Given the description of an element on the screen output the (x, y) to click on. 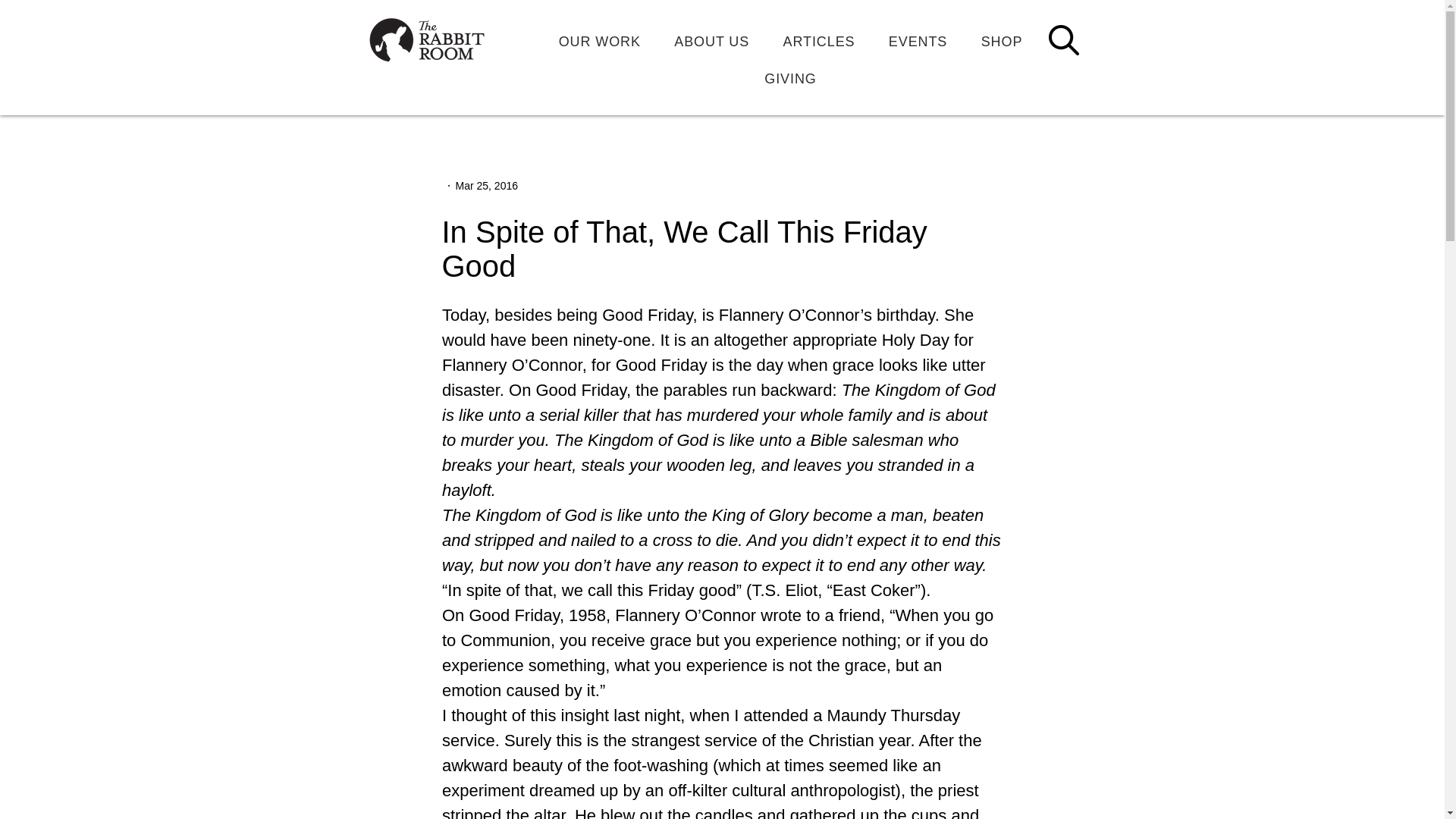
ARTICLES (817, 41)
EVENTS (917, 41)
Mar 25, 2016 (486, 184)
GIVING (789, 79)
ABOUT US (711, 41)
SHOP (1000, 41)
